Given the description of an element on the screen output the (x, y) to click on. 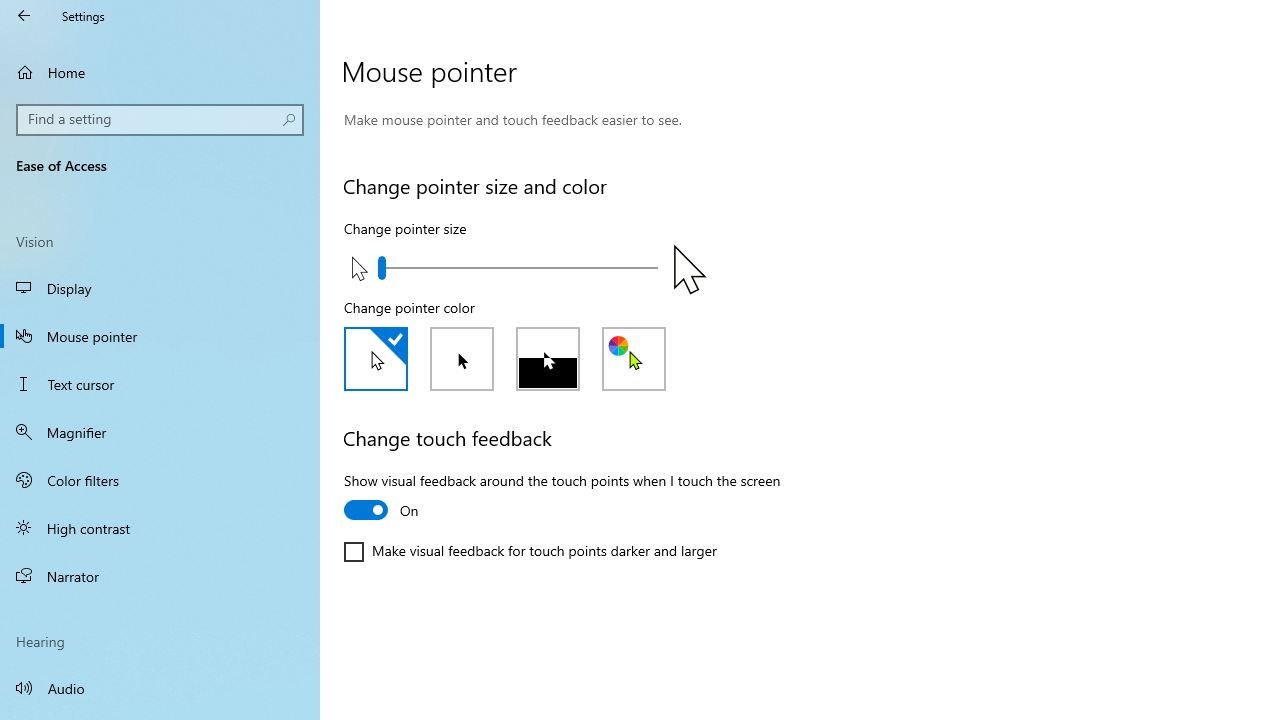
High contrast (160, 527)
Inverted (548, 358)
Change pointer size (517, 267)
Audio (160, 687)
White (375, 358)
Narrator (160, 575)
Color filters (160, 479)
Display (160, 287)
Black (461, 358)
Back (24, 15)
Custom (634, 358)
Text cursor (160, 384)
Mouse pointer (160, 335)
Search box, Find a setting (160, 119)
